Given the description of an element on the screen output the (x, y) to click on. 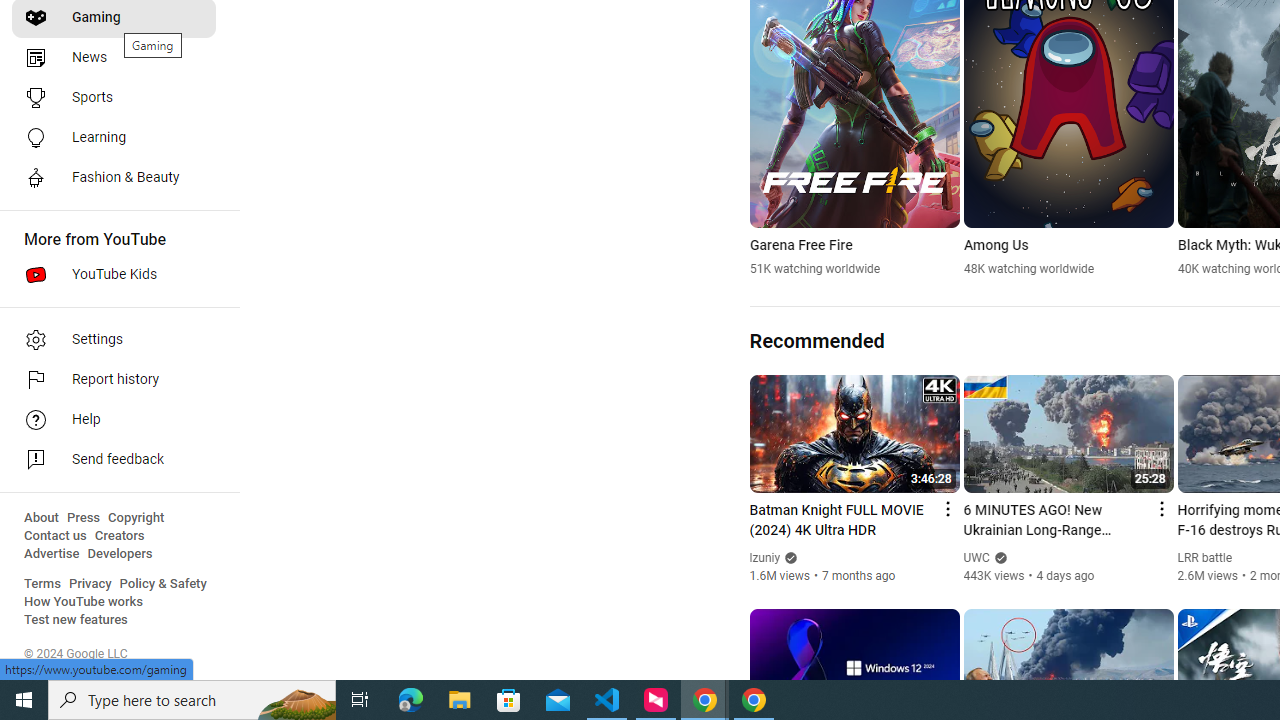
Test new features (76, 620)
Learning (113, 137)
Creators (118, 536)
Sports (113, 97)
Press (83, 518)
Fashion & Beauty (113, 177)
How YouTube works (83, 602)
Developers (120, 554)
Copyright (136, 518)
Policy & Safety (163, 584)
